Given the description of an element on the screen output the (x, y) to click on. 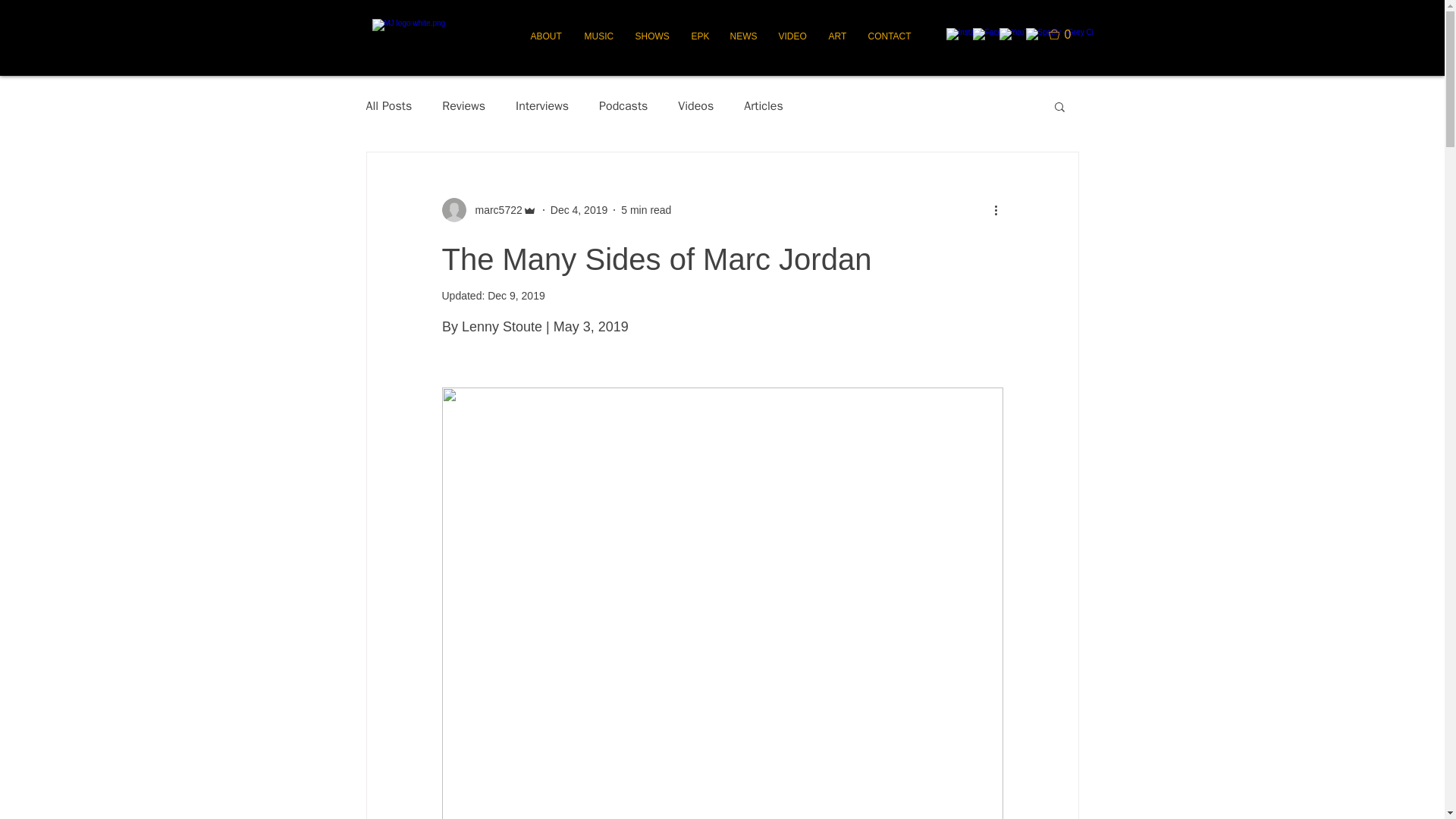
Dec 4, 2019 (579, 209)
SHOWS (651, 36)
NEWS (743, 36)
Dec 9, 2019 (515, 295)
VIDEO (791, 36)
Podcasts (622, 106)
ABOUT (545, 36)
EPK (698, 36)
marc5722 (488, 209)
marc5722 (493, 209)
